Given the description of an element on the screen output the (x, y) to click on. 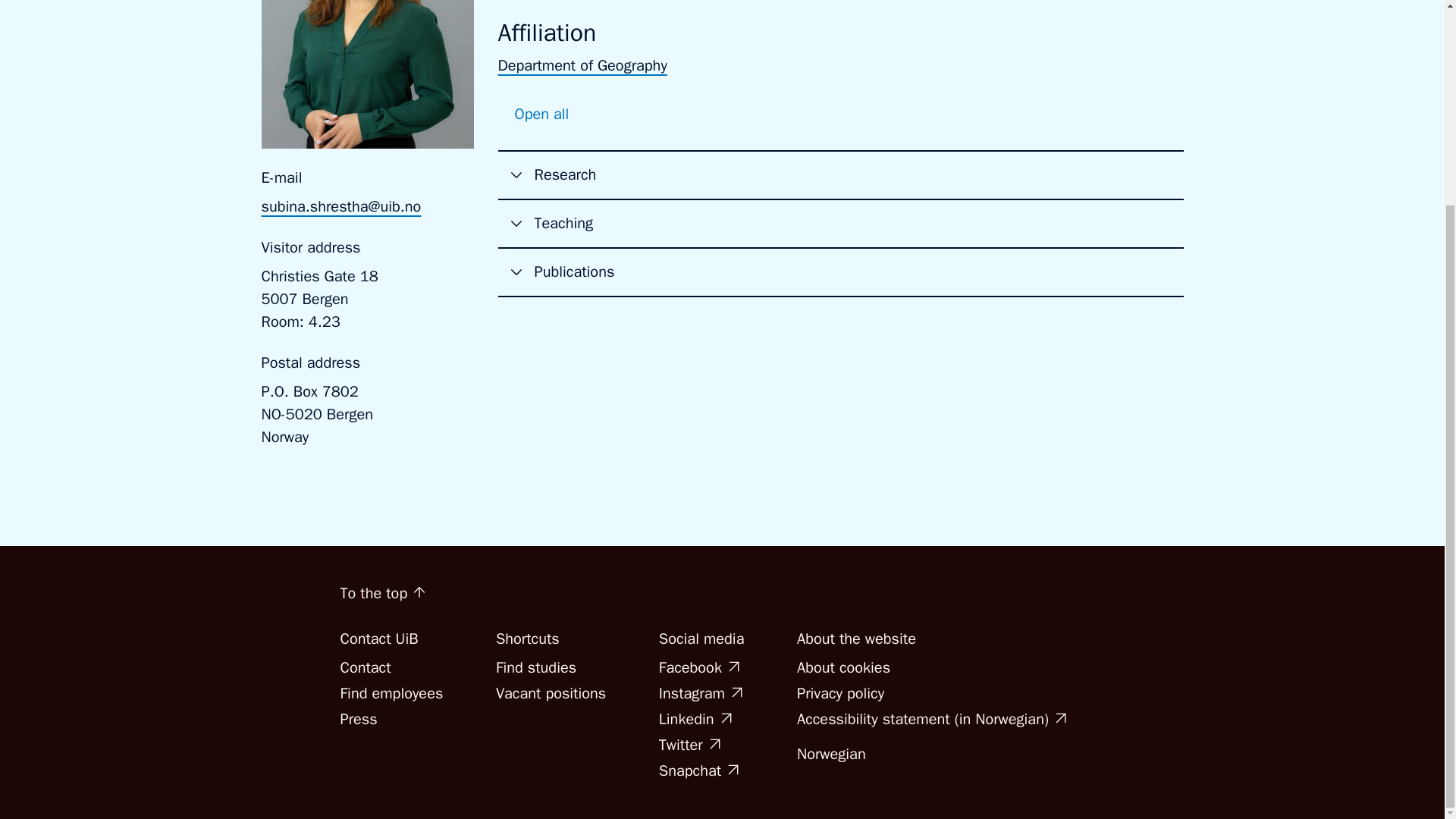
Find studies (536, 667)
Facebook (699, 667)
Department of Geography (581, 65)
Snapchat (699, 770)
Open all (541, 113)
Contact (364, 667)
Vacant positions (550, 692)
About cookies (842, 667)
To the top (382, 593)
Linkedin (695, 719)
